Given the description of an element on the screen output the (x, y) to click on. 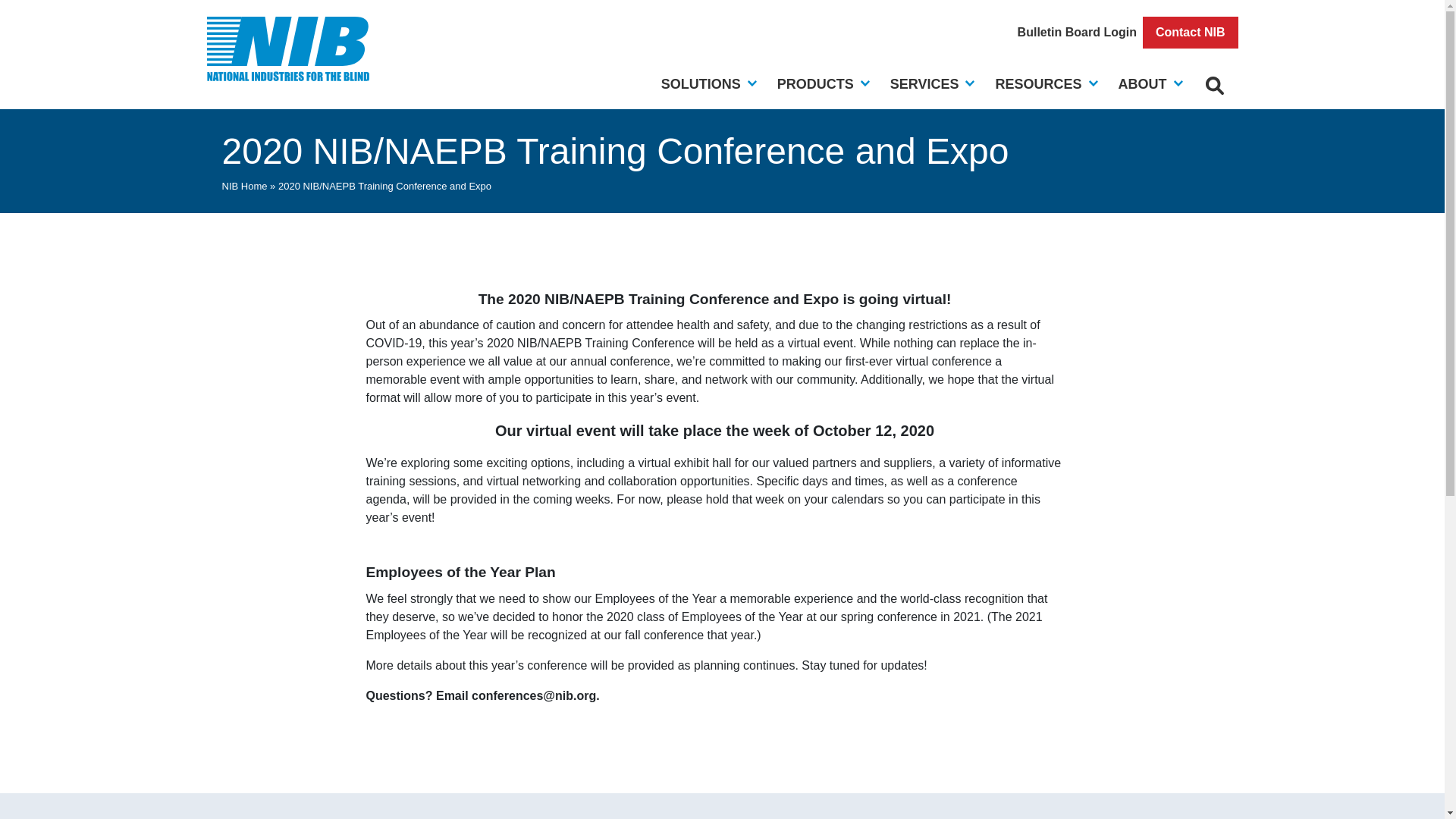
RESOURCES (1037, 84)
SERVICES (924, 84)
SOLUTIONS (701, 84)
PRODUCTS (815, 84)
Go to National Industries for the Blind. (243, 185)
National Industries for the Blind (287, 48)
Bulletin Board Login (1077, 31)
Contact NIB (1190, 32)
